Given the description of an element on the screen output the (x, y) to click on. 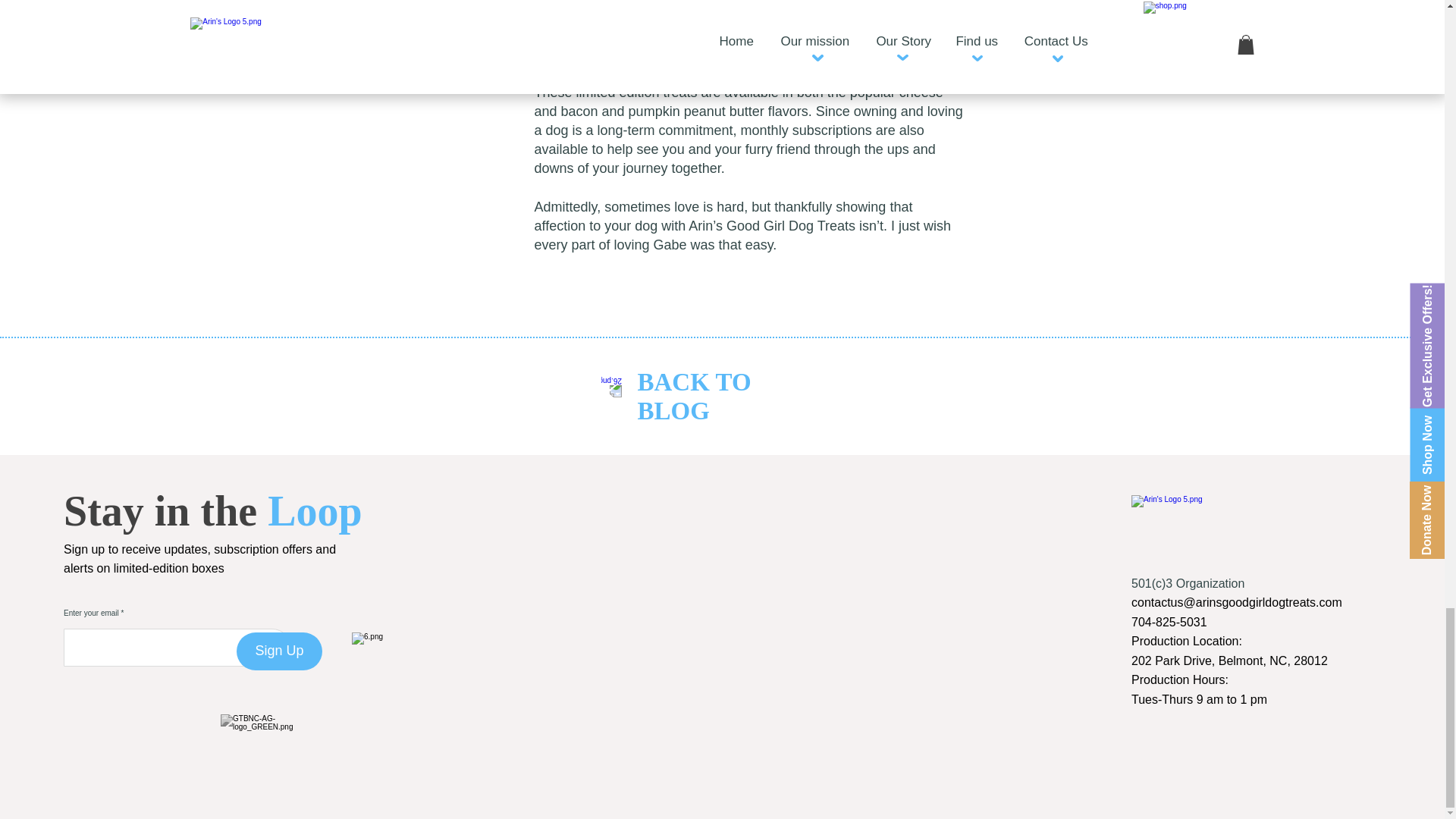
Sign Up (278, 651)
BACK TO BLOG (694, 396)
